Given the description of an element on the screen output the (x, y) to click on. 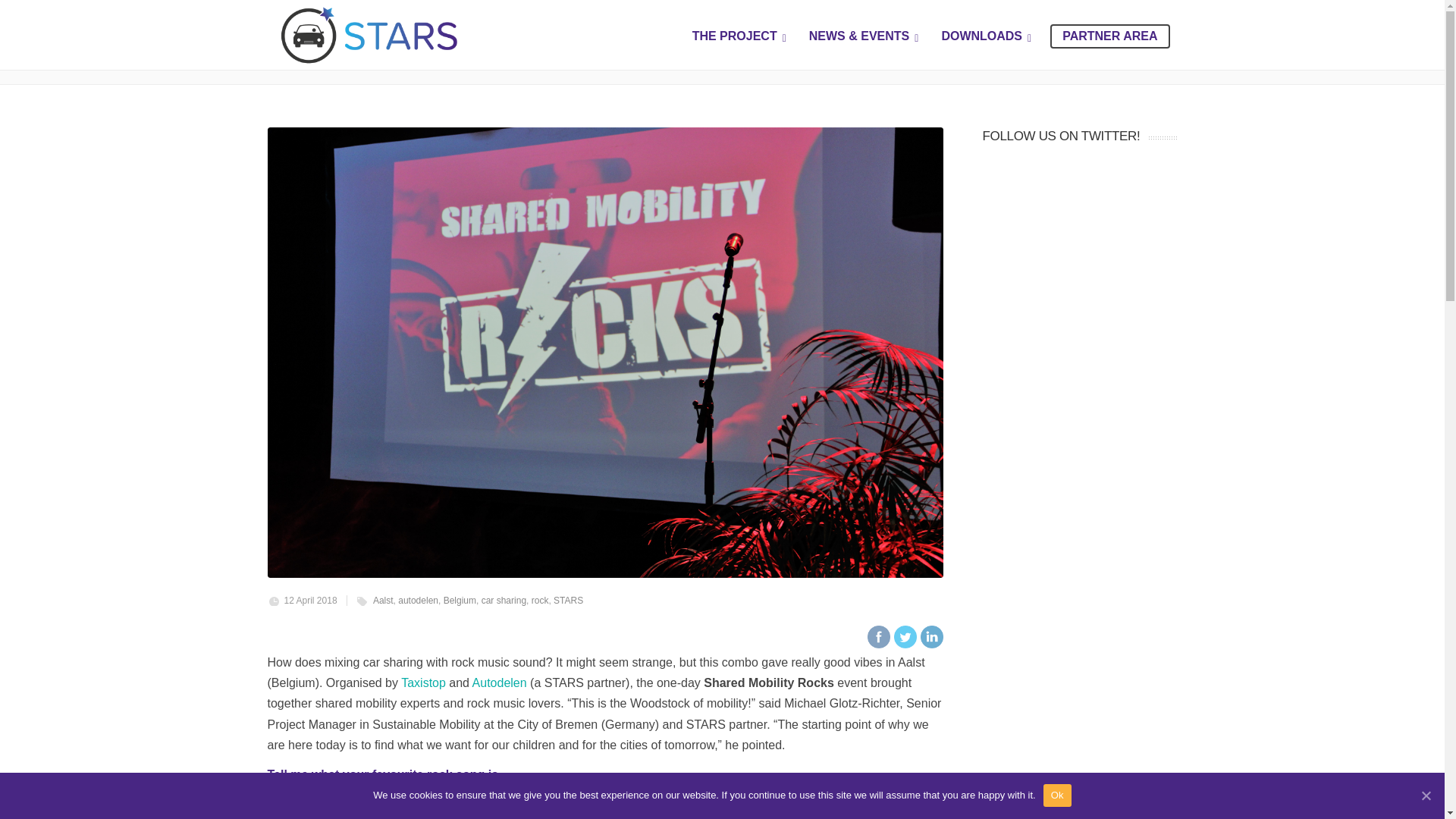
STARS final event in a German local newspaper (523, 575)
DOWNLOADS (986, 34)
LinkedIn (931, 636)
Facebook (878, 636)
STARS new publication (523, 639)
PARTNER AREA (1109, 36)
Twitter (904, 636)
THE PROJECT (739, 34)
